Given the description of an element on the screen output the (x, y) to click on. 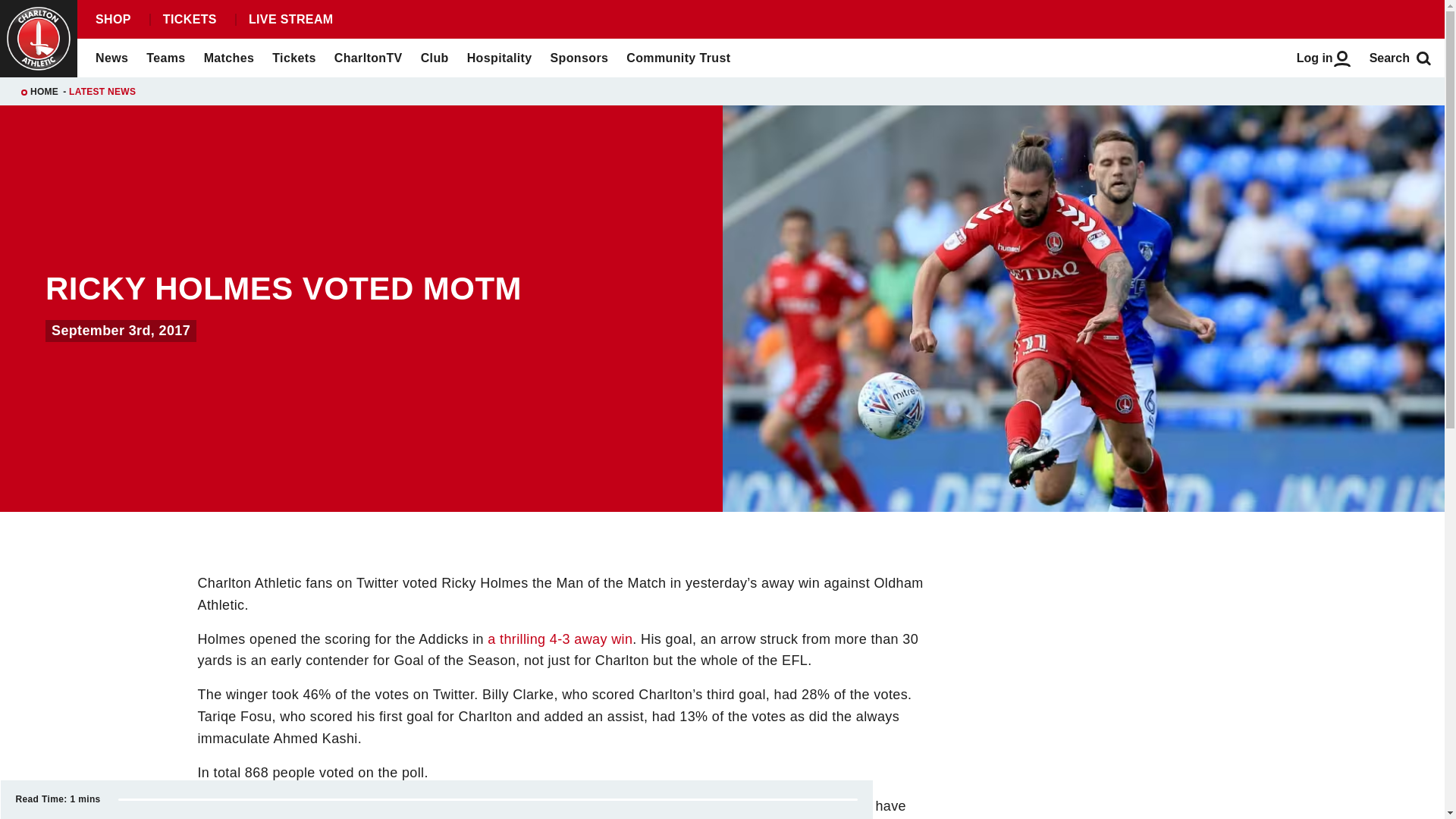
Teams (165, 57)
News (112, 57)
LIVE STREAM (290, 19)
TICKETS (188, 19)
News (112, 57)
SHOP (112, 19)
Matches (228, 57)
Teams (165, 57)
